Given the description of an element on the screen output the (x, y) to click on. 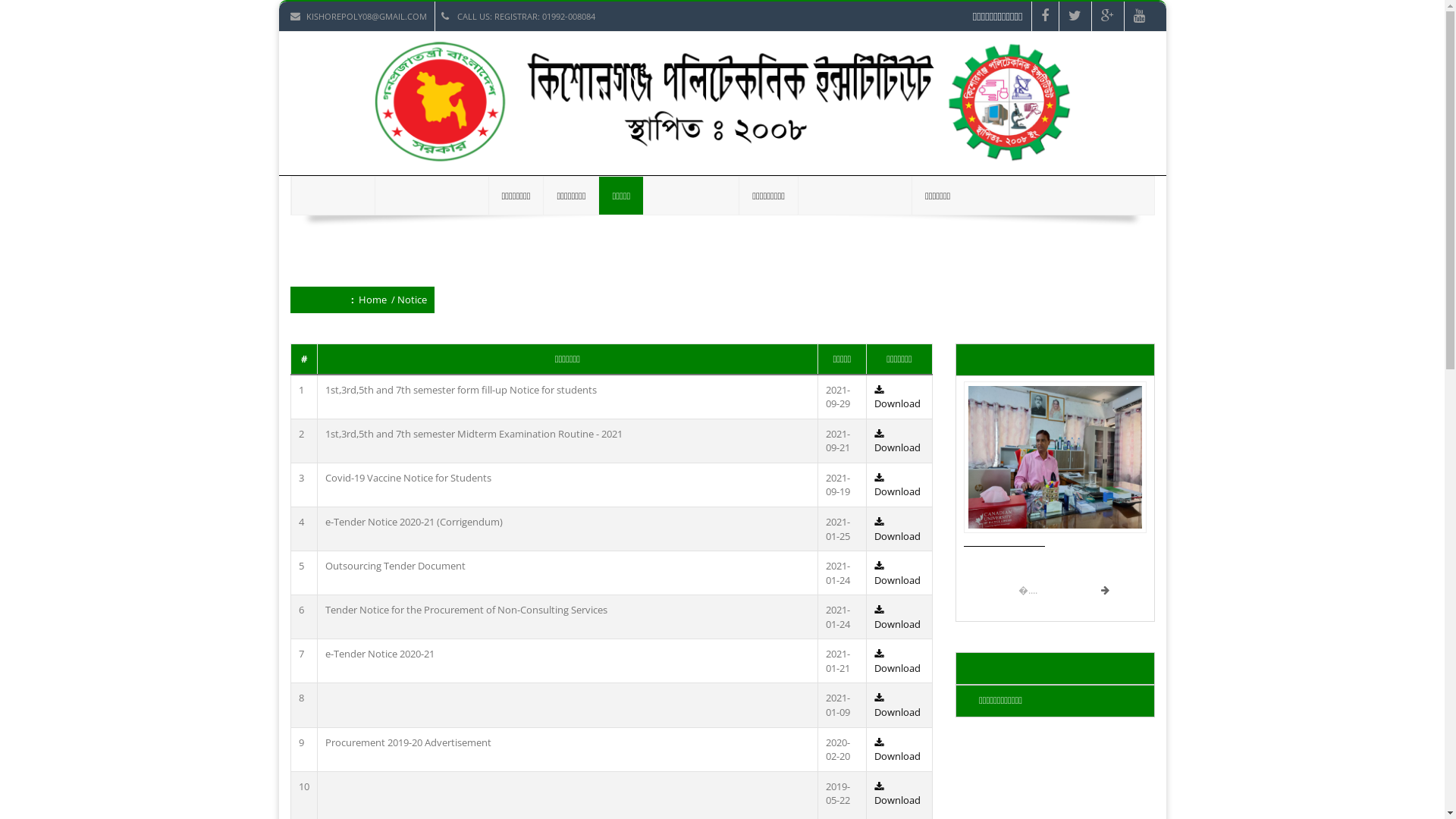
Home Element type: text (371, 299)
Download Element type: text (897, 396)
Download Element type: text (897, 793)
Download Element type: text (897, 528)
Download Element type: text (897, 660)
Download Element type: text (897, 749)
Download Element type: text (897, 484)
Download Element type: text (897, 440)
Download Element type: text (897, 704)
Download Element type: text (897, 616)
Download Element type: text (897, 572)
KISHOREPOLY08@GMAIL.COM Element type: text (361, 16)
